Given the description of an element on the screen output the (x, y) to click on. 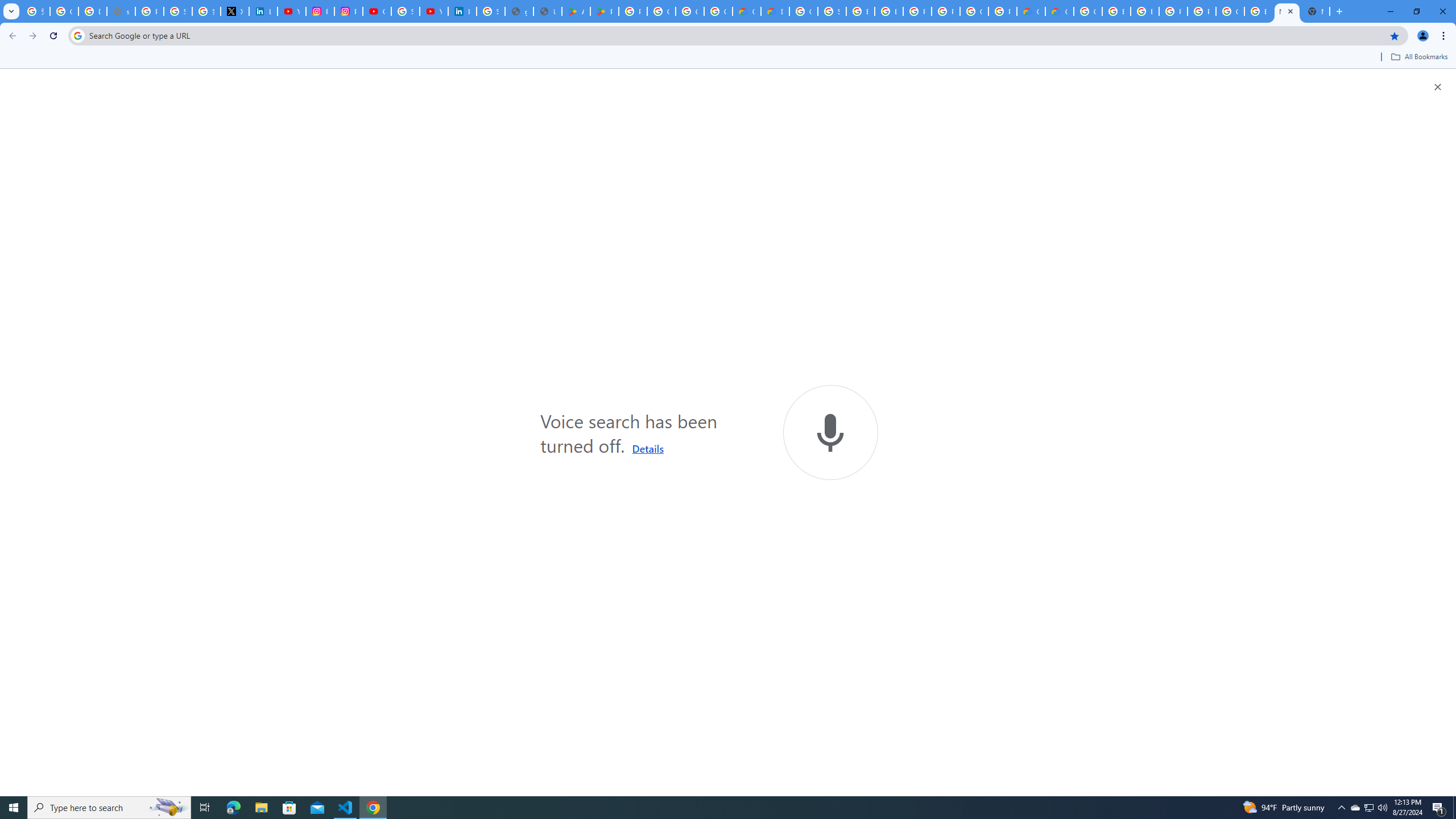
YouTube Content Monetization Policies - How YouTube Works (291, 11)
Google Cloud Platform (803, 11)
Browse Chrome as a guest - Computer - Google Chrome Help (1116, 11)
support.google.com - Network error (120, 11)
